Given the description of an element on the screen output the (x, y) to click on. 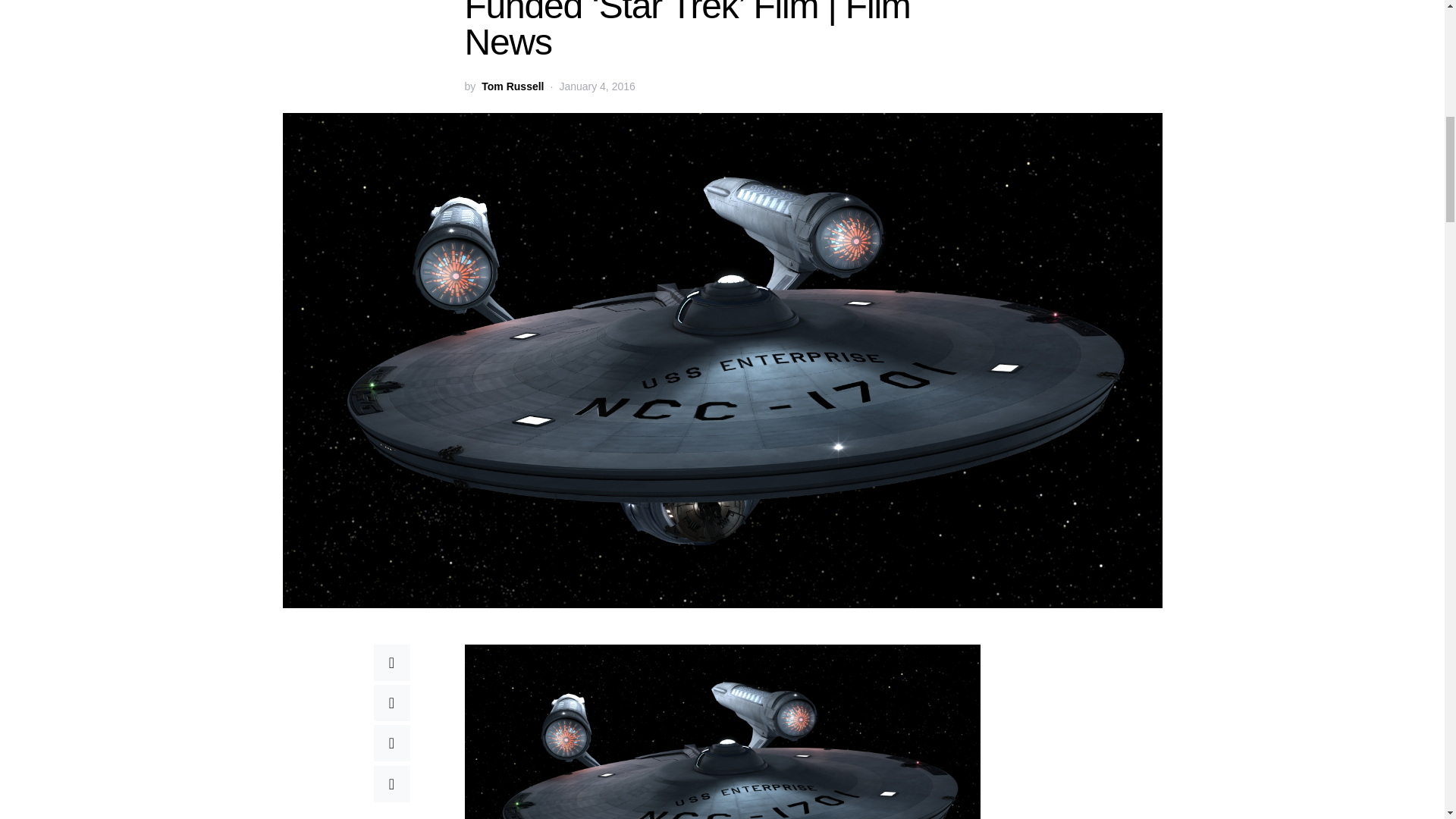
View all posts by Tom Russell (512, 86)
